Given the description of an element on the screen output the (x, y) to click on. 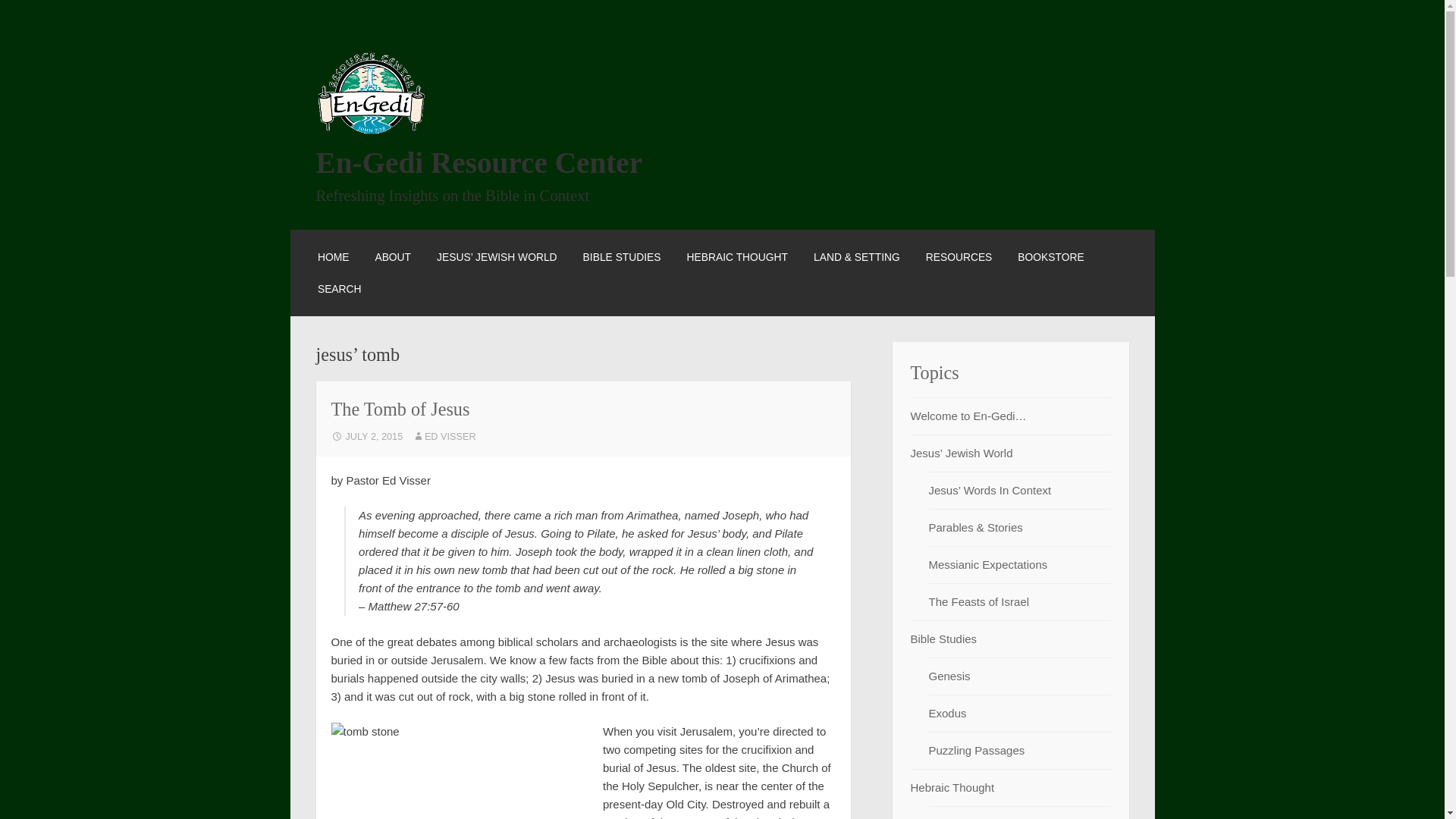
RESOURCES (959, 256)
View all posts by Ed Visser (444, 436)
JULY 2, 2015 (366, 436)
HOME (333, 256)
ABOUT (392, 256)
ED VISSER (444, 436)
HEBRAIC THOUGHT (737, 256)
Permalink to The Tomb of Jesus (366, 436)
SEARCH (339, 288)
En-Gedi Resource Center (478, 162)
BIBLE STUDIES (622, 256)
En-Gedi Resource Center (478, 162)
The Tomb of Jesus (399, 408)
BOOKSTORE (1050, 256)
